Given the description of an element on the screen output the (x, y) to click on. 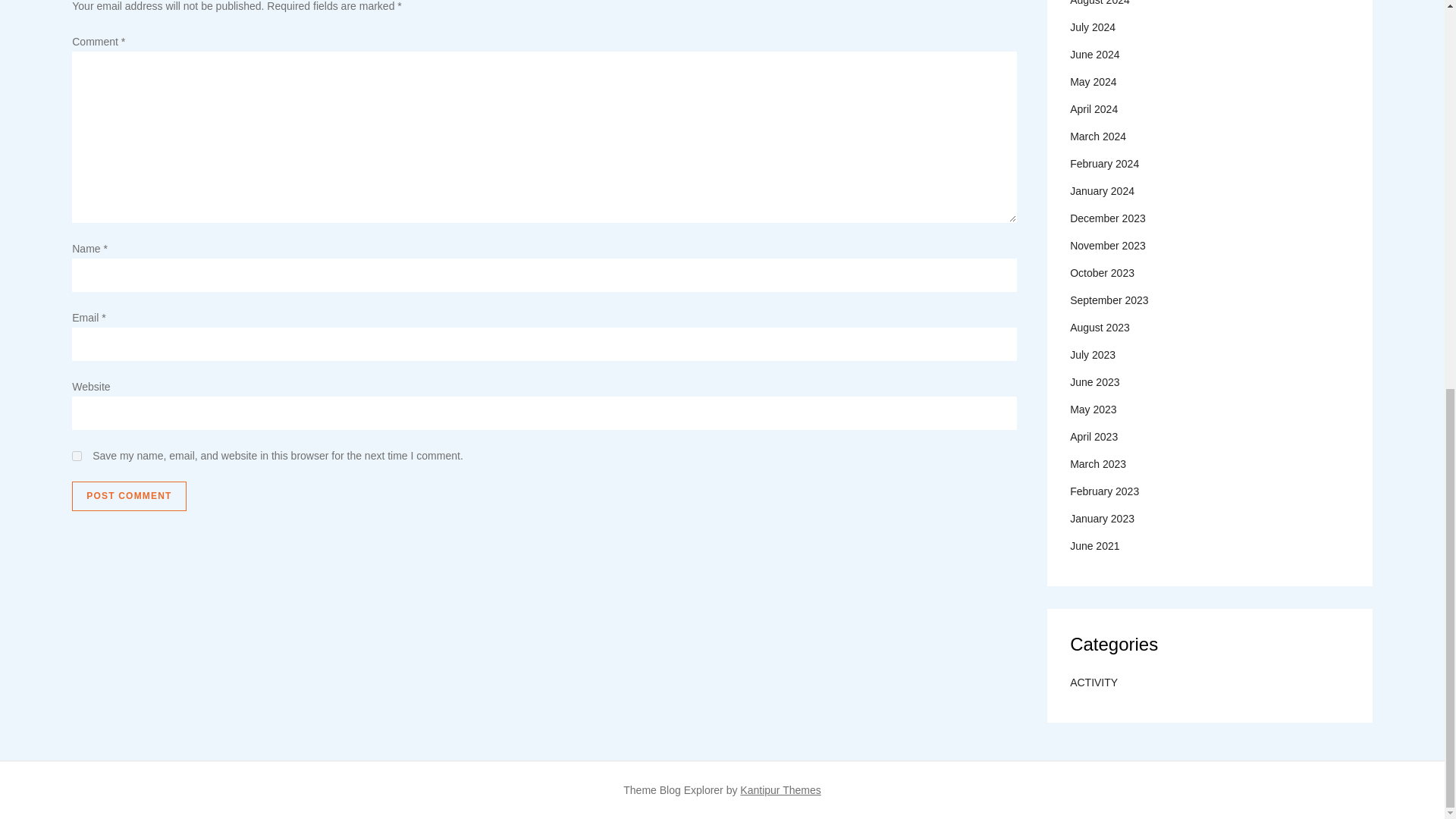
Post Comment (128, 496)
May 2024 (1093, 81)
September 2023 (1109, 300)
yes (76, 456)
February 2024 (1104, 163)
August 2024 (1099, 4)
June 2023 (1094, 382)
January 2024 (1102, 190)
June 2024 (1094, 54)
November 2023 (1107, 245)
August 2023 (1099, 327)
October 2023 (1102, 272)
May 2023 (1093, 409)
Post Comment (128, 496)
April 2024 (1094, 108)
